Given the description of an element on the screen output the (x, y) to click on. 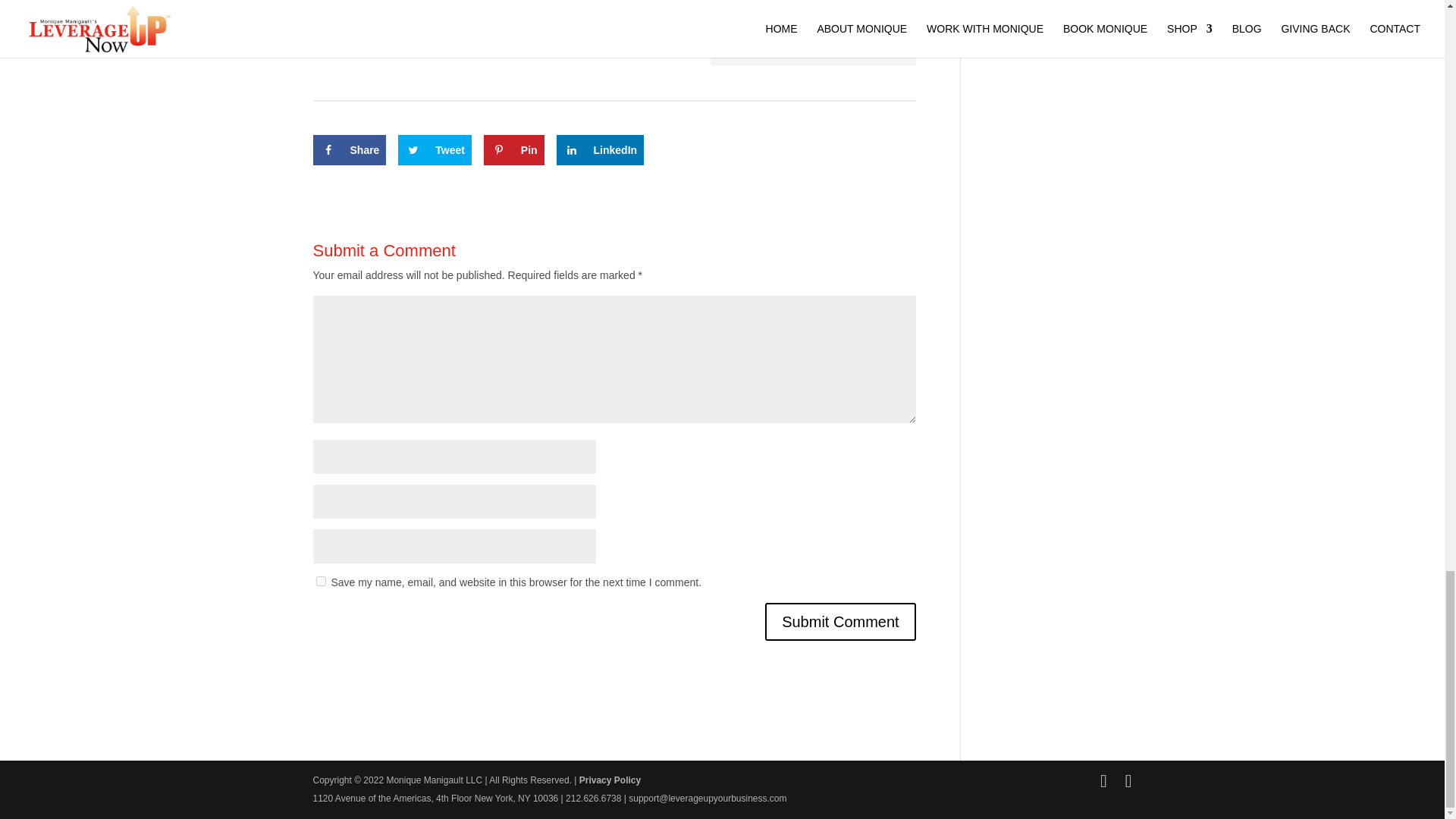
Share on Twitter (434, 150)
Tweet (434, 150)
SUBSCRIBE! (812, 9)
LinkedIn (600, 150)
Save to Pinterest (513, 150)
Share on Facebook (349, 150)
Submit Comment (840, 621)
Submit Comment (840, 621)
Pin (513, 150)
Share (349, 150)
yes (319, 581)
Share on LinkedIn (600, 150)
